Given the description of an element on the screen output the (x, y) to click on. 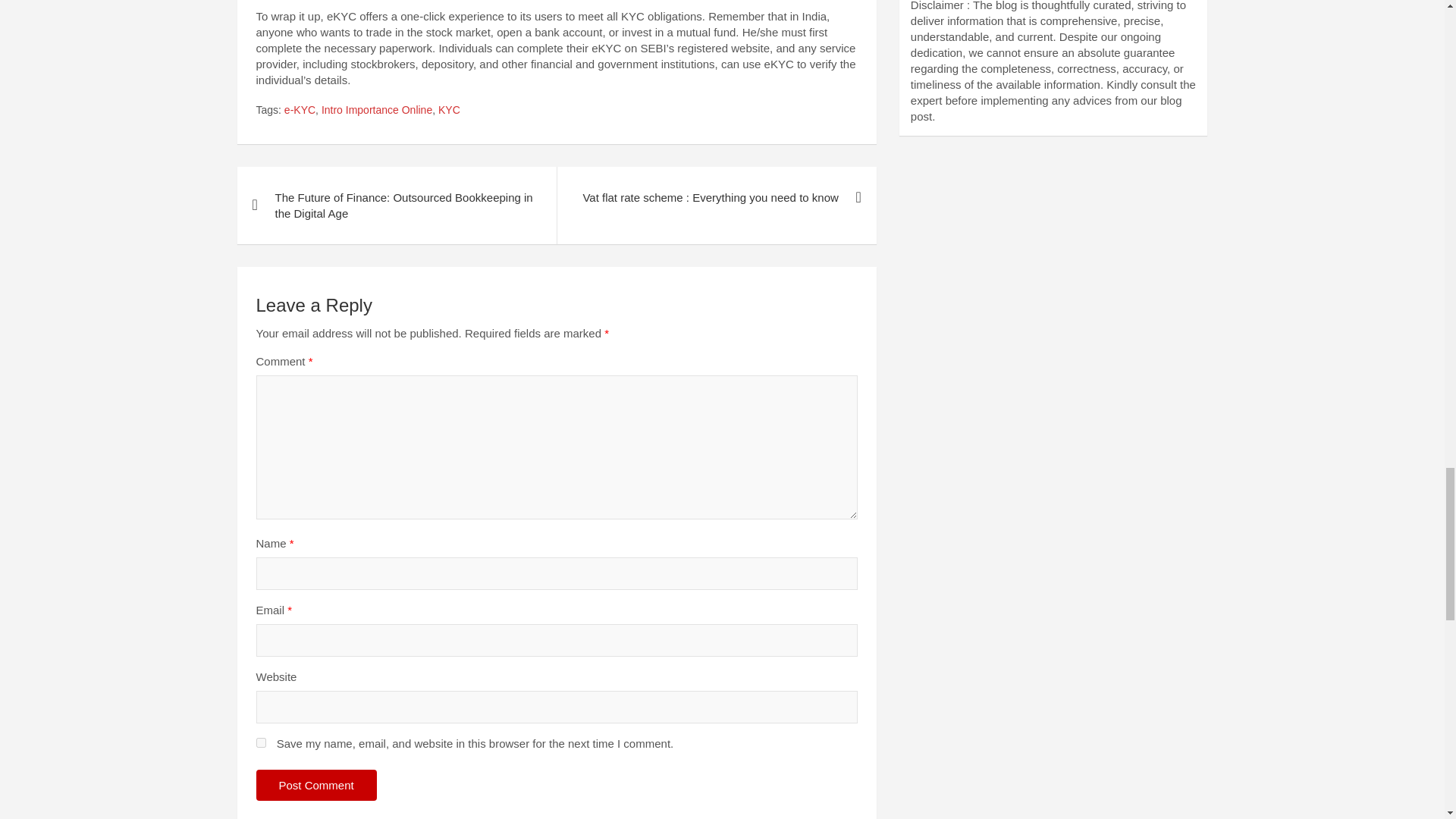
yes (261, 742)
Advertisement (1053, 264)
Post Comment (316, 784)
